Given the description of an element on the screen output the (x, y) to click on. 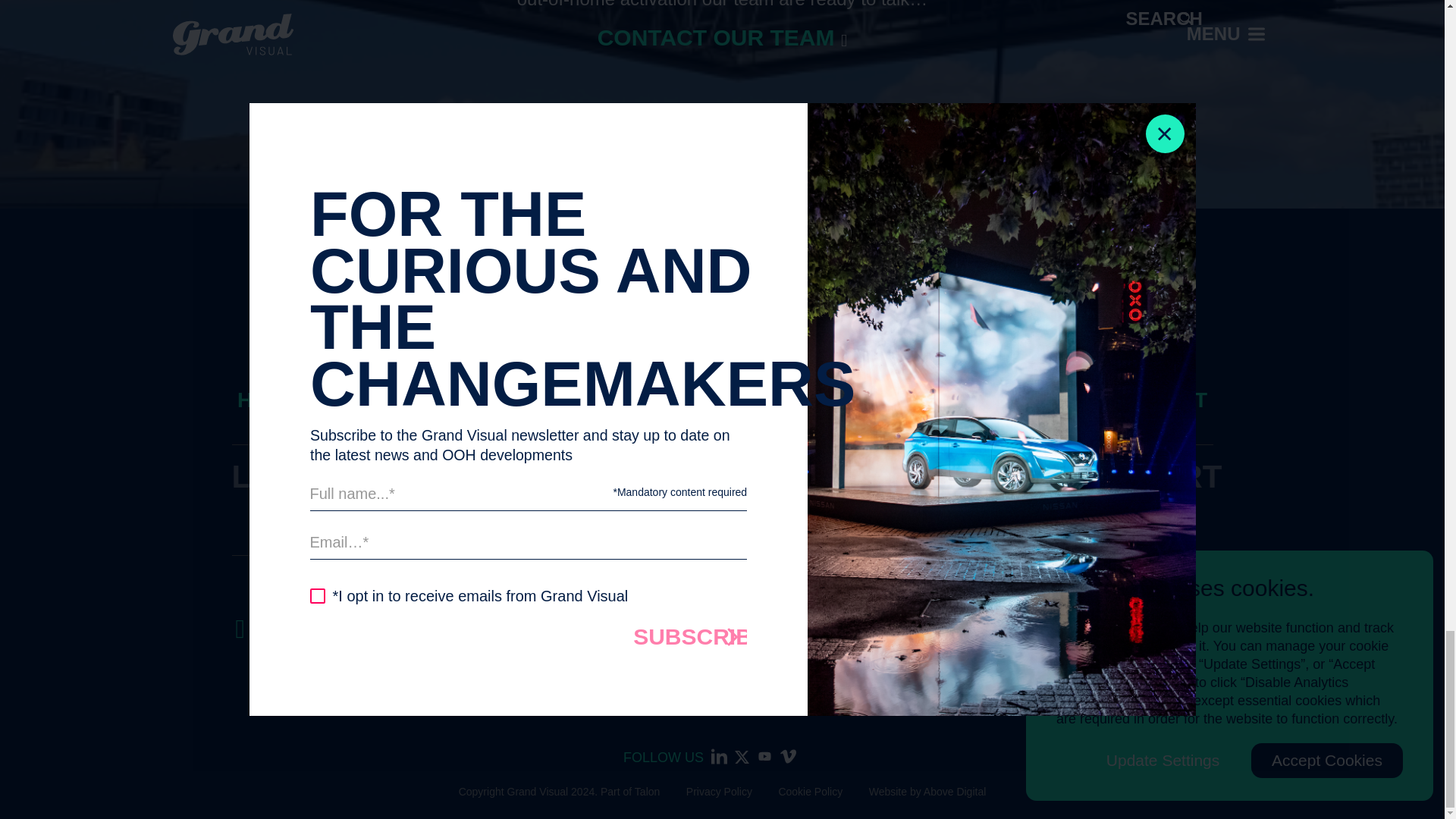
CONTACT OUR TEAM (721, 37)
NEW YORK (446, 497)
LIFE AT GRAND VISUAL (867, 399)
OUR WORK (386, 399)
LONDON (300, 476)
Contact Our Team (721, 37)
ABOUT US (662, 399)
CONTACT (1156, 399)
NEWS (1046, 399)
HOME (269, 399)
SERVICES (527, 399)
